Given the description of an element on the screen output the (x, y) to click on. 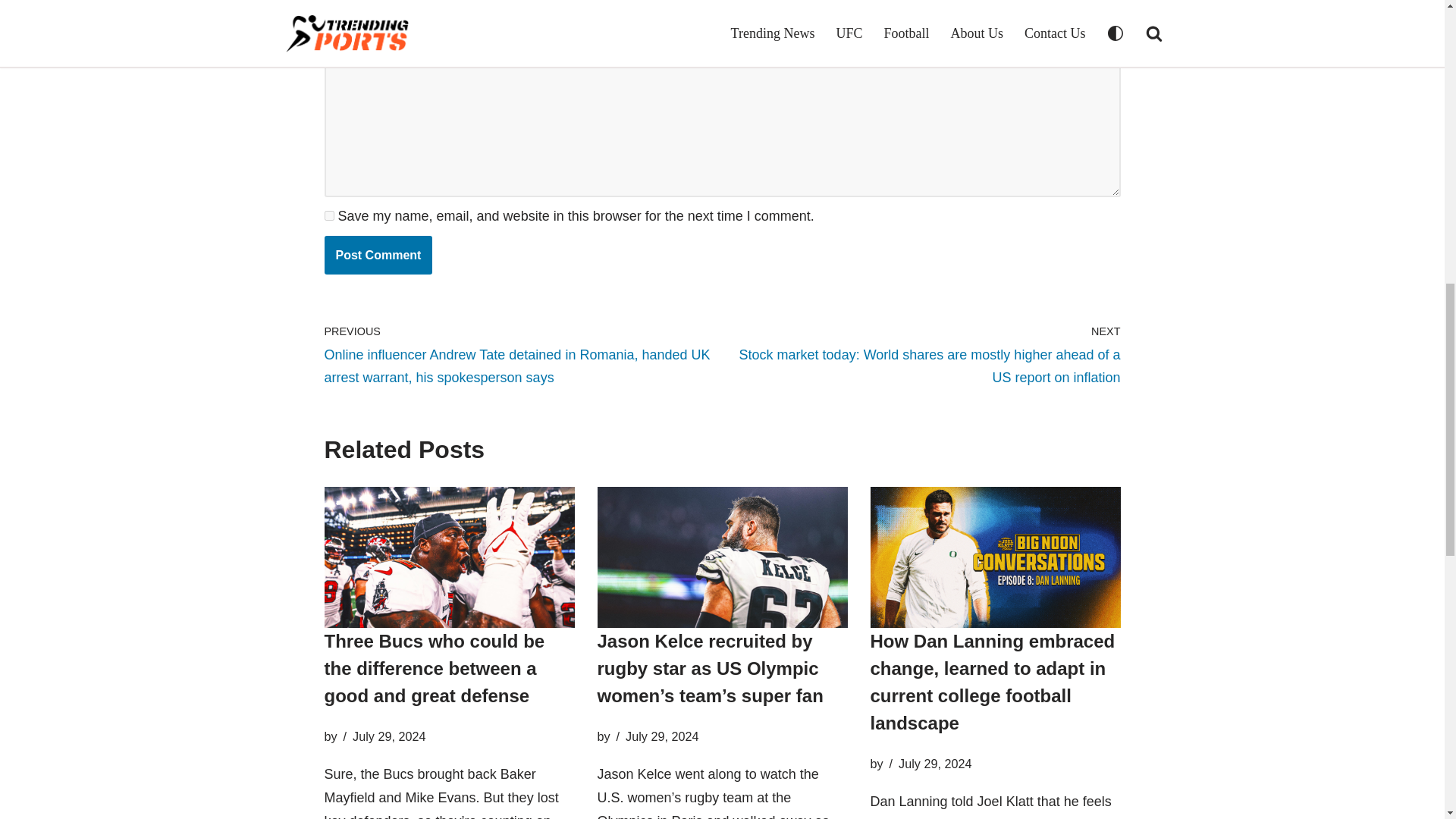
Post Comment (378, 254)
yes (329, 215)
Post Comment (378, 254)
